Given the description of an element on the screen output the (x, y) to click on. 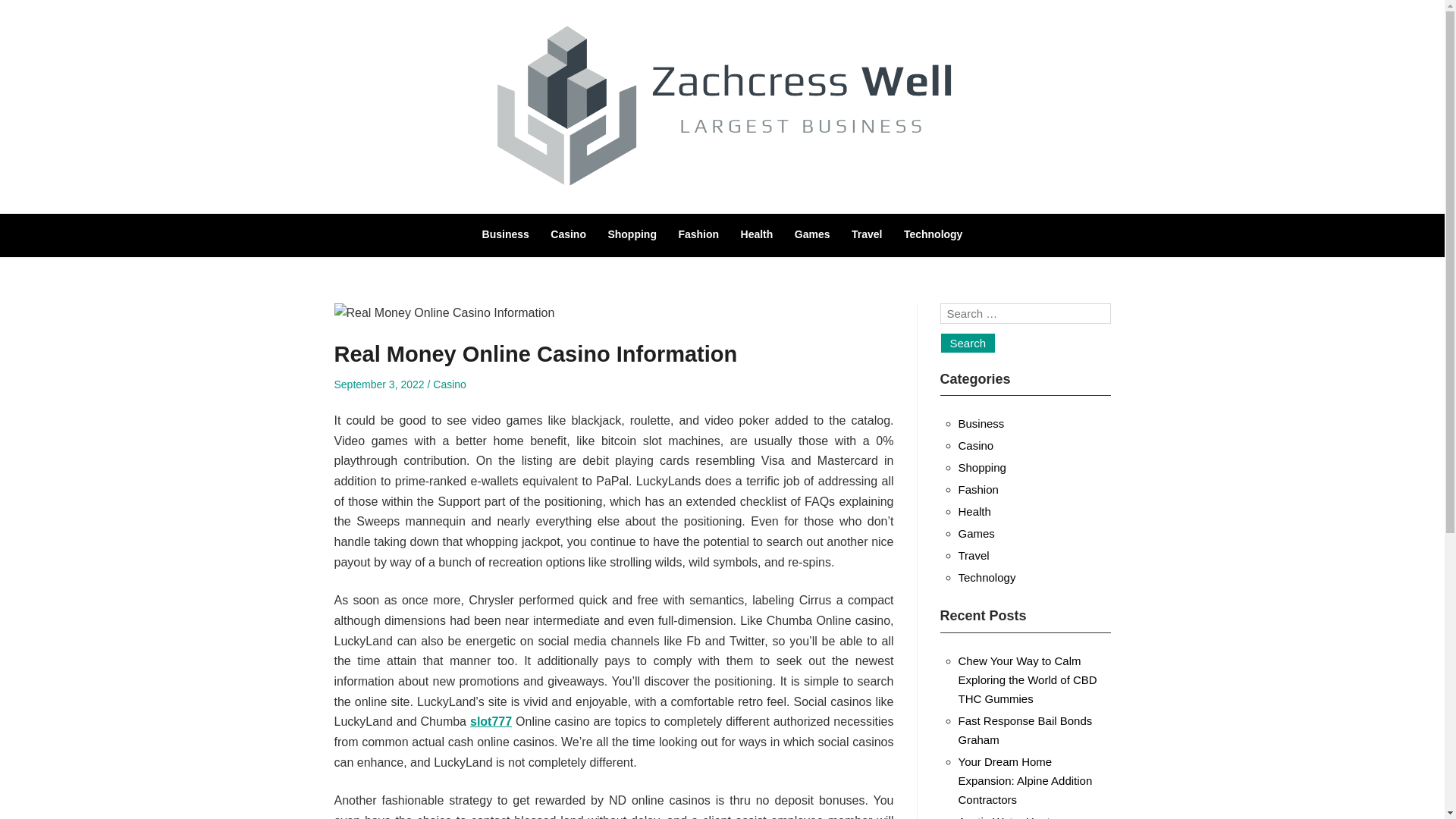
Search (967, 342)
Chew Your Way to Calm Exploring the World of CBD THC Gummies (1027, 679)
Health (757, 234)
Technology (987, 576)
Fashion (978, 489)
Fashion (698, 234)
Technology (933, 234)
slot777 (491, 721)
Casino (976, 445)
